Given the description of an element on the screen output the (x, y) to click on. 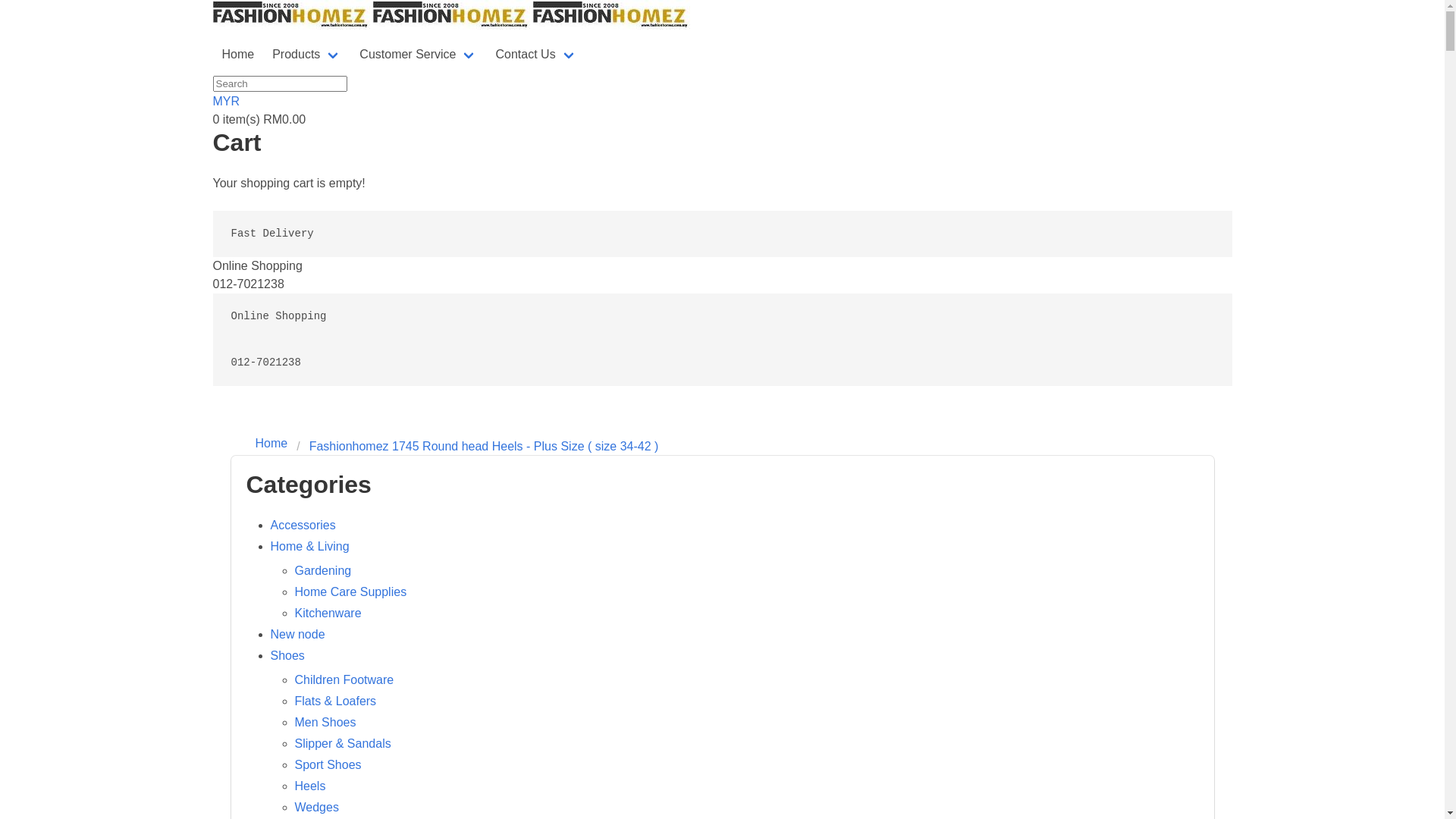
Heels Element type: text (309, 785)
Home Element type: text (237, 54)
Accessories Element type: text (302, 524)
Sport Shoes Element type: text (327, 764)
Fashionhomez Online Store (CA0185302-W) Element type: hover (451, 14)
Home Care Supplies Element type: text (350, 591)
Customer Service Element type: text (418, 54)
Men Shoes Element type: text (324, 721)
Kitchenware Element type: text (327, 612)
Home Element type: text (275, 443)
Gardening Element type: text (322, 570)
Fashionhomez Online Store (CA0185302-W) Element type: hover (611, 14)
Children Footware Element type: text (343, 679)
MYR Element type: text (225, 100)
Home & Living Element type: text (308, 545)
Flats & Loafers Element type: text (335, 700)
Products Element type: text (306, 54)
Slipper & Sandals Element type: text (342, 743)
Shoes Element type: text (286, 655)
Contact Us Element type: text (535, 54)
Fashionhomez Online Store (CA0185302-W) Element type: hover (290, 14)
Wedges Element type: text (316, 806)
New node Element type: text (296, 633)
